Given the description of an element on the screen output the (x, y) to click on. 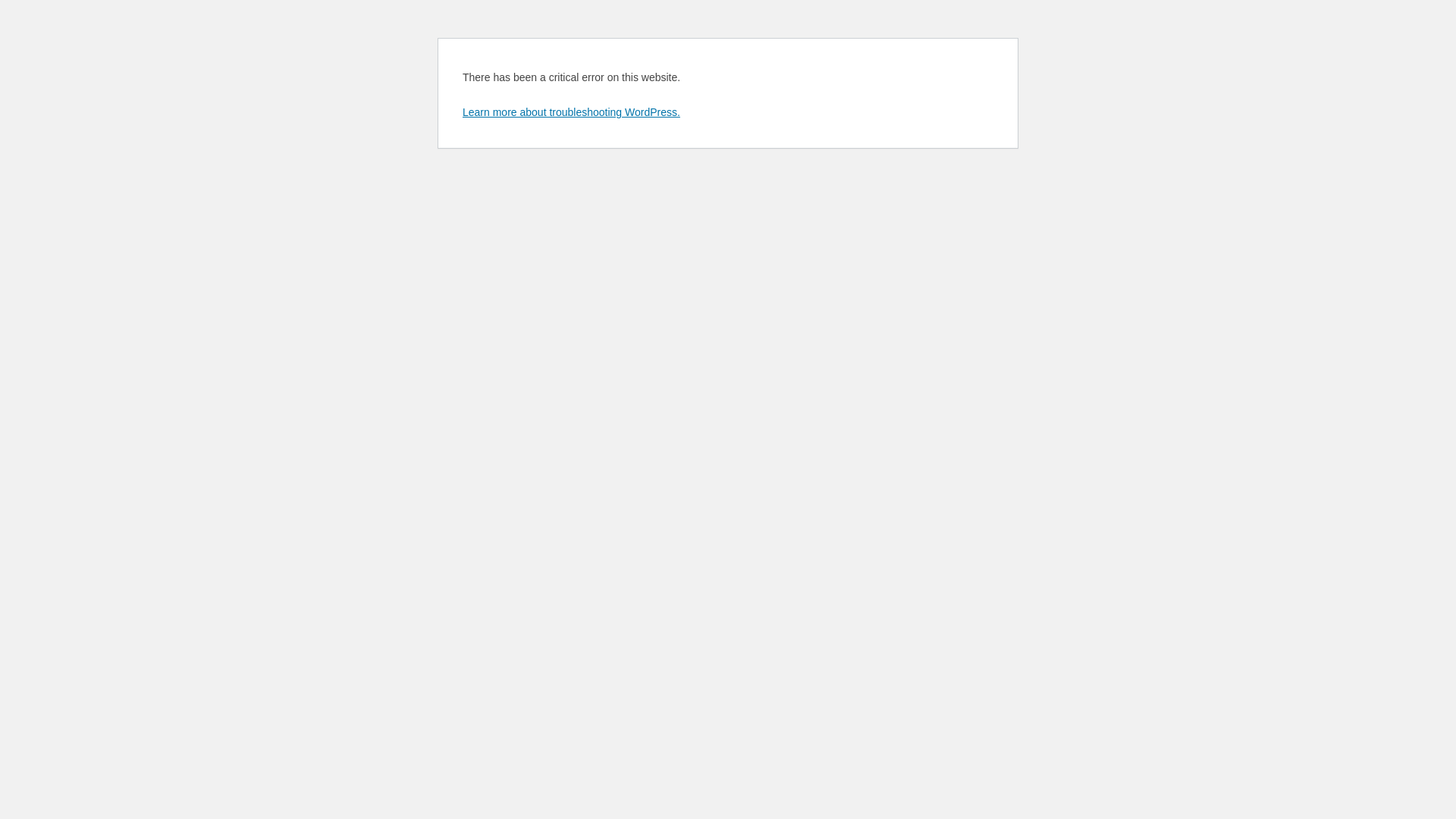
Learn more about troubleshooting WordPress. Element type: text (571, 112)
